Given the description of an element on the screen output the (x, y) to click on. 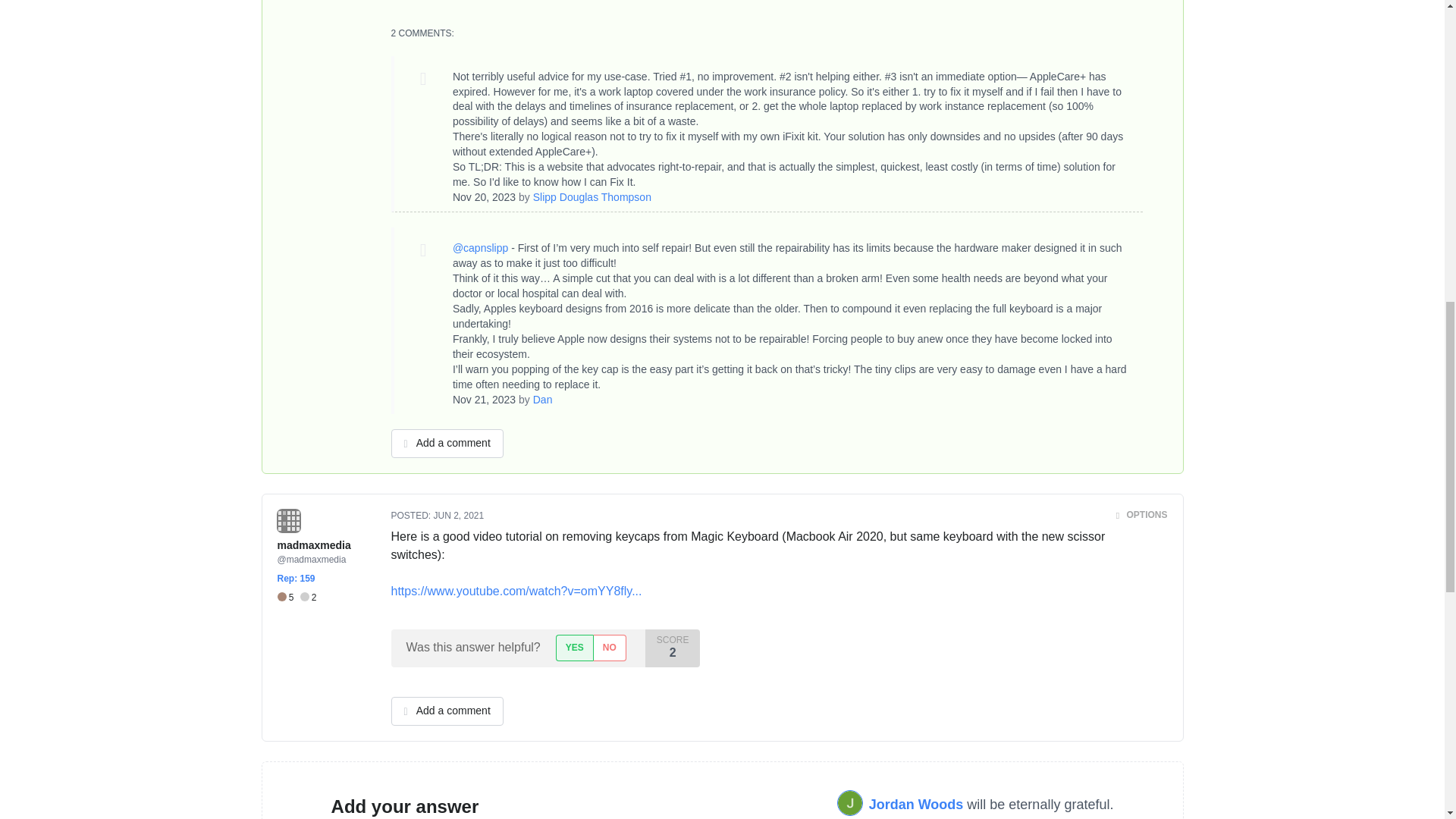
5 Bronze badges (288, 597)
2 Silver badges (308, 597)
Tue, 21 Nov 2023 05:05:35 -0700 (483, 399)
Mon, 20 Nov 2023 21:24:05 -0700 (483, 196)
Nov 20, 2023 (483, 196)
Wed, 02 Jun 2021 14:47:16 -0700 (458, 515)
